Given the description of an element on the screen output the (x, y) to click on. 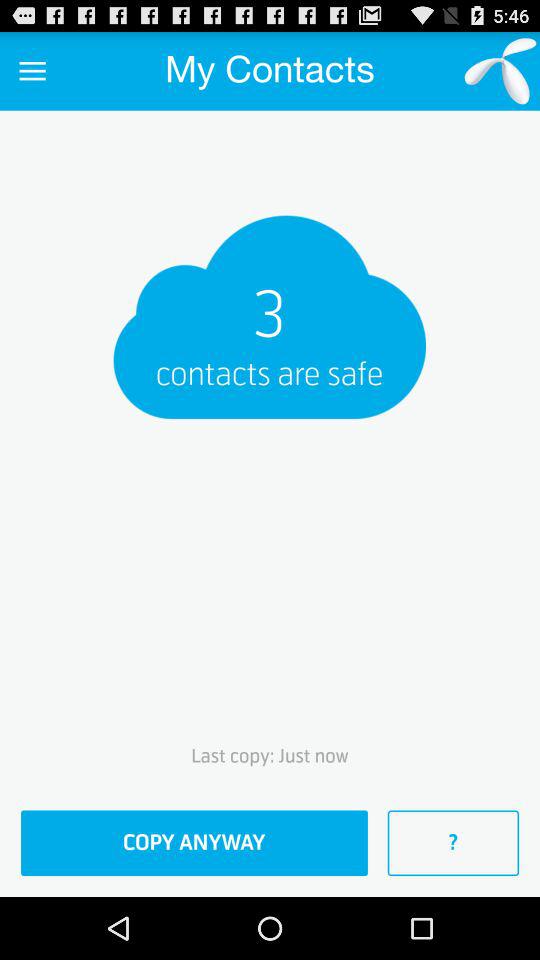
choose item to the left of  ?  item (194, 843)
